Given the description of an element on the screen output the (x, y) to click on. 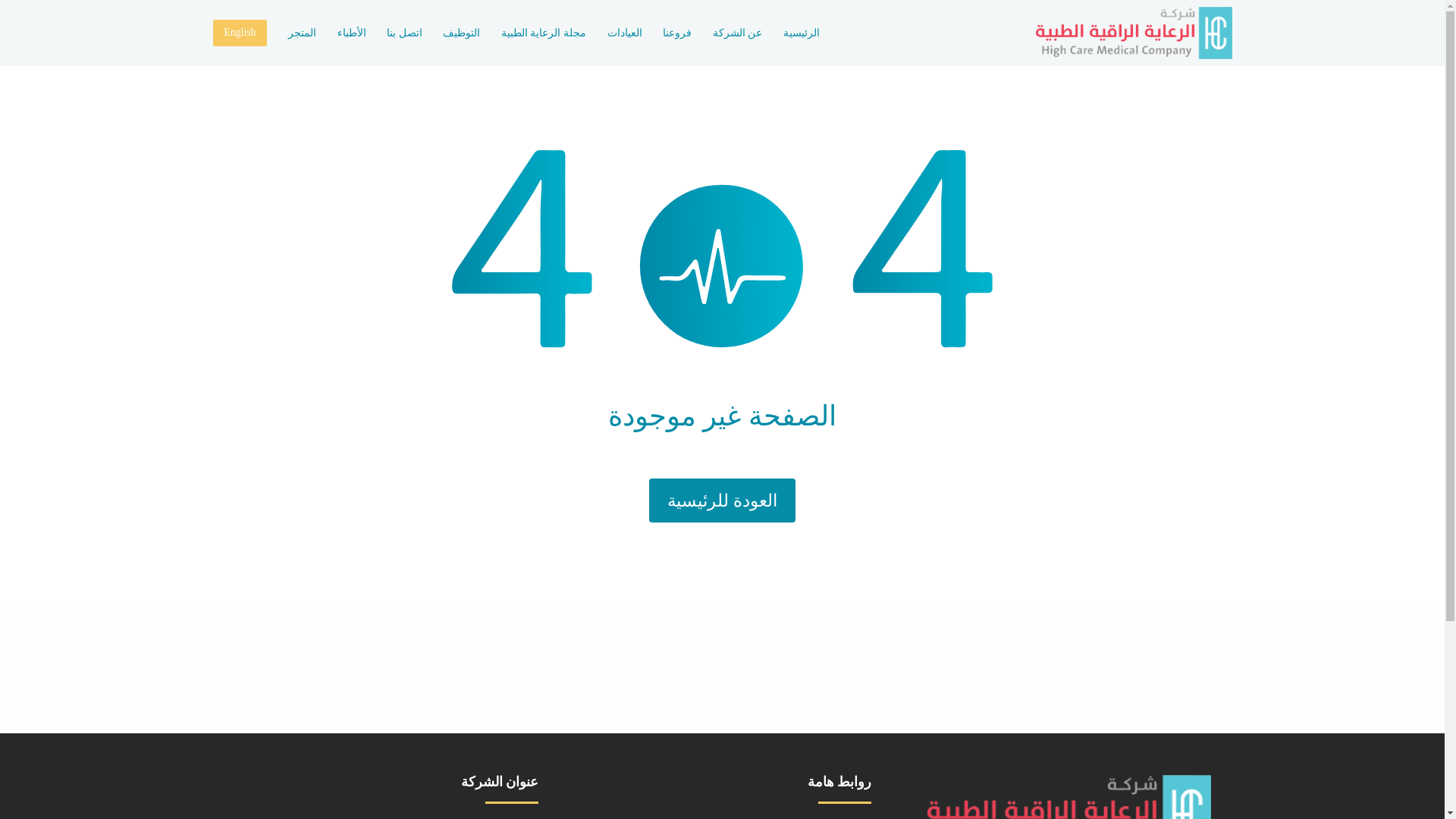
English (239, 32)
